Given the description of an element on the screen output the (x, y) to click on. 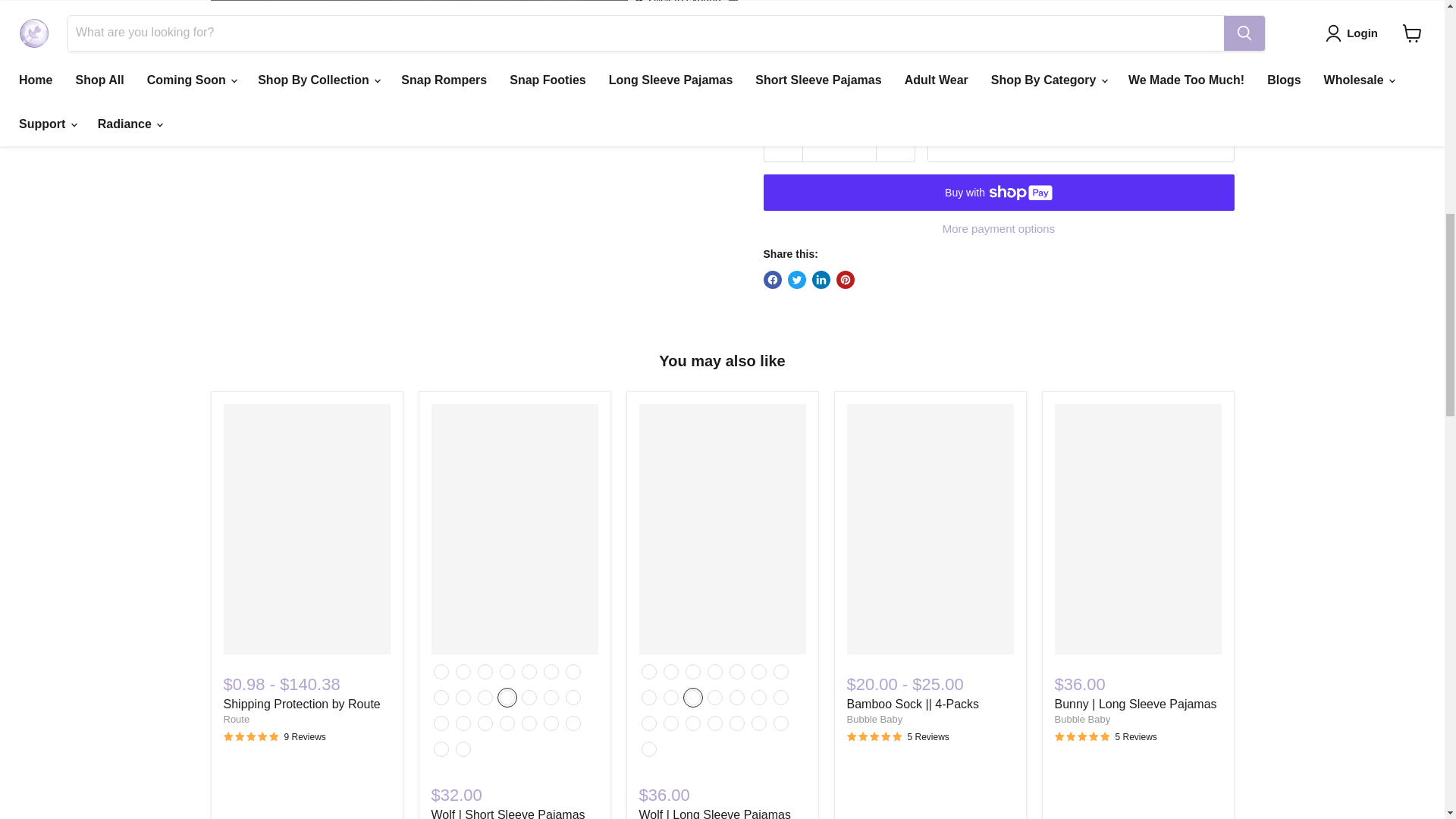
Route (235, 718)
Bubble Baby (873, 718)
1 (839, 141)
